Given the description of an element on the screen output the (x, y) to click on. 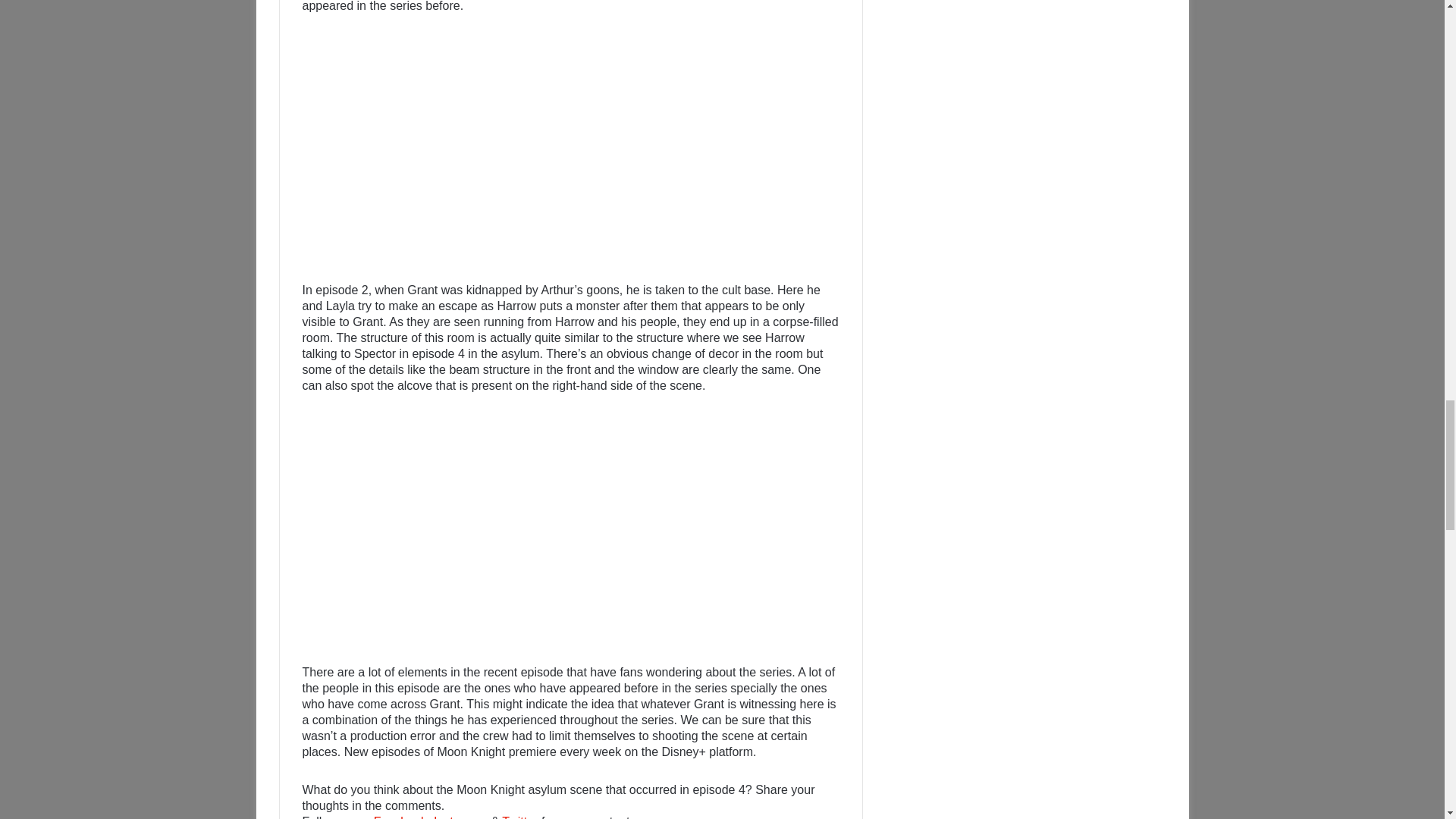
Facebook (400, 816)
Instagram (460, 816)
Twitter (519, 816)
